Given the description of an element on the screen output the (x, y) to click on. 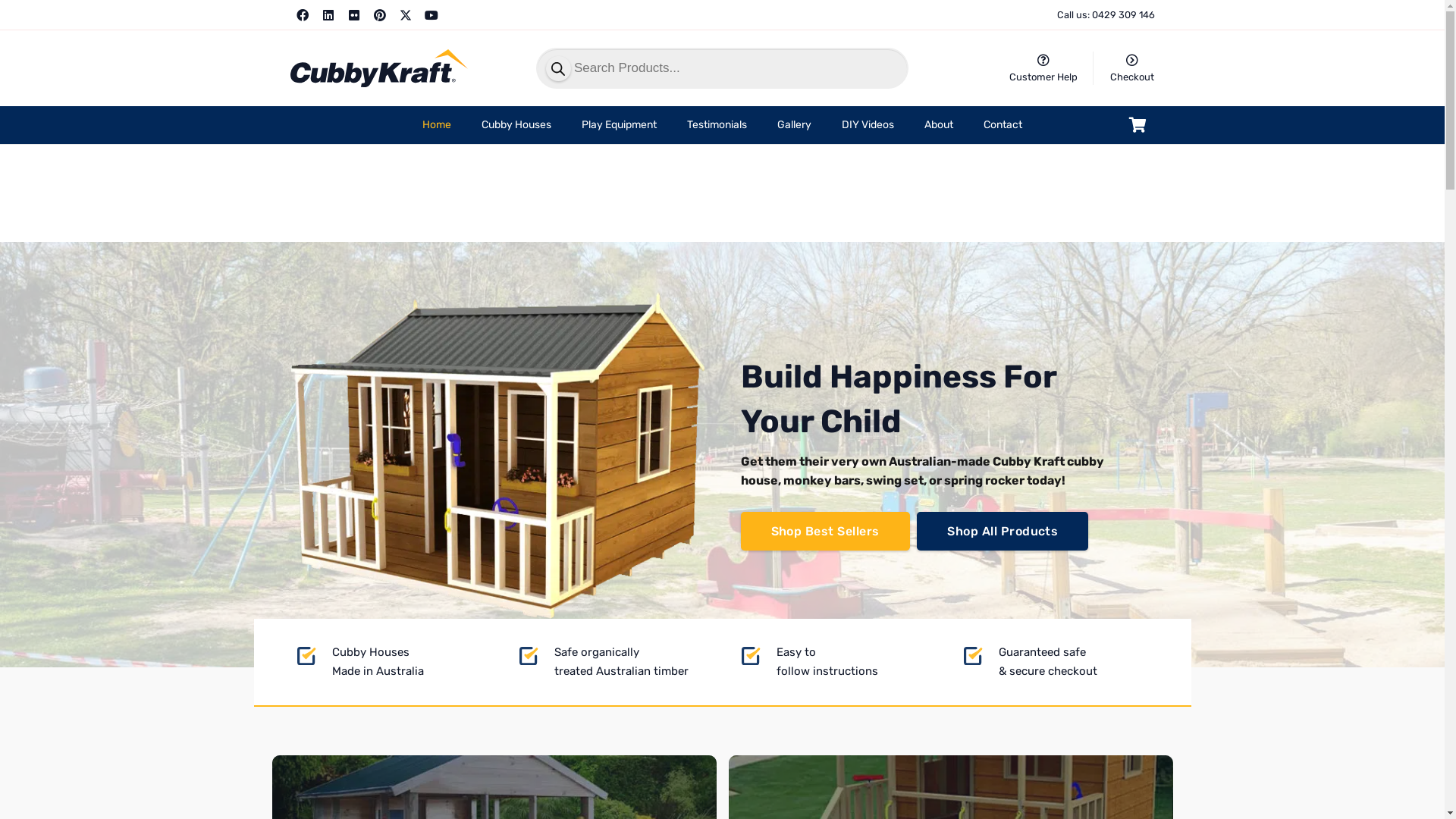
YouTube Element type: hover (430, 15)
Pinterest Element type: hover (379, 15)
Contact Element type: text (1002, 125)
Cubby Houses Element type: text (516, 125)
Home Element type: text (436, 125)
Call us: 0429 309 146 Element type: text (1105, 14)
Flickr Element type: hover (353, 15)
Facebook Element type: hover (301, 15)
Customer Help Element type: text (1043, 76)
Checkout Element type: hover (1132, 60)
Twitter Element type: hover (404, 15)
Gallery Element type: text (794, 125)
Shop Best Sellers Element type: text (824, 530)
DIY Videos Element type: text (867, 125)
Play Equipment Element type: text (618, 125)
Testimonials Element type: text (716, 125)
FAQ Element type: hover (1043, 60)
Shop All Products Element type: text (1002, 530)
LinkedIn Element type: hover (327, 15)
About Element type: text (938, 125)
Checkout Element type: text (1132, 76)
